Given the description of an element on the screen output the (x, y) to click on. 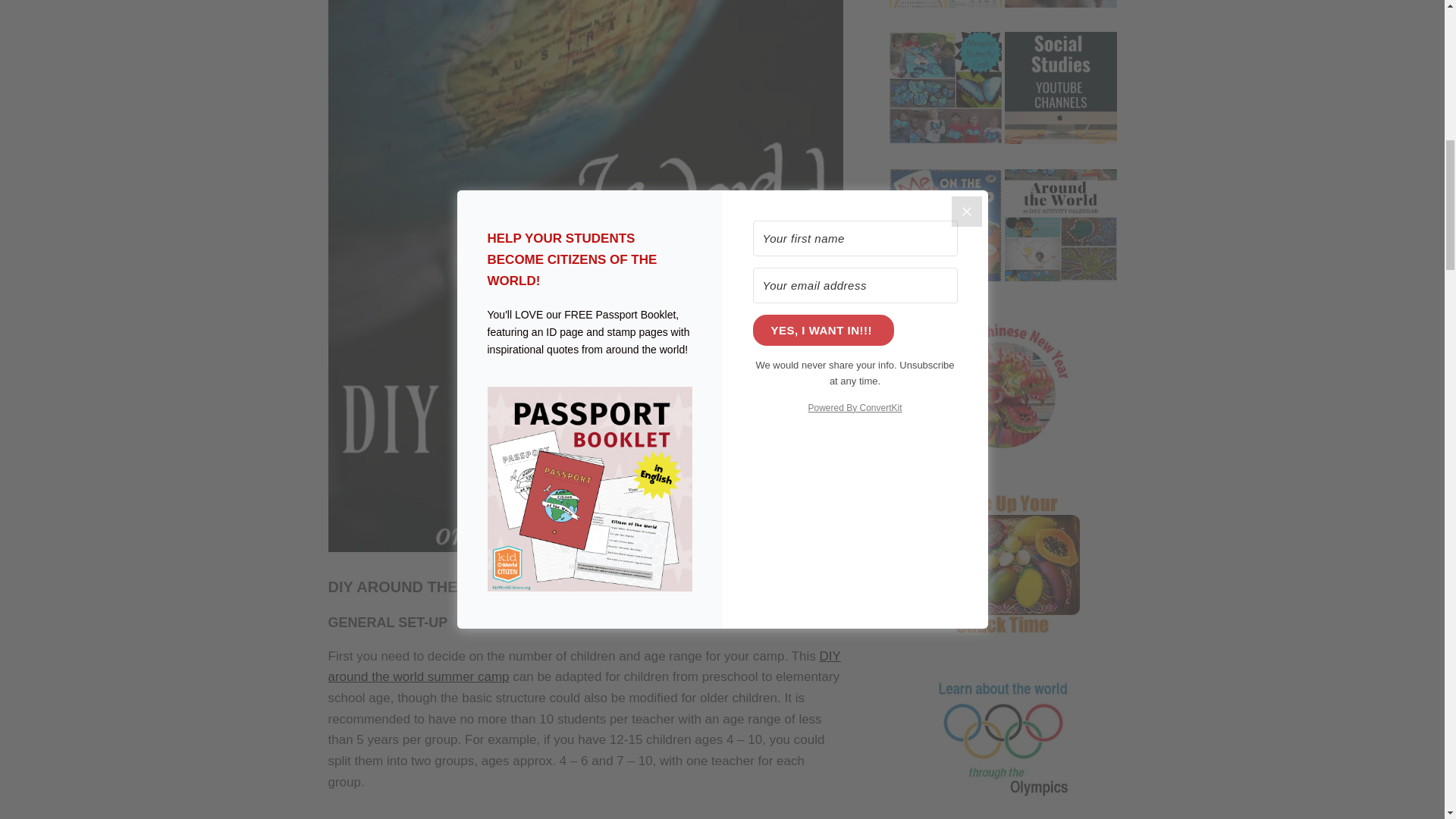
Olympics Activities for Kids (944, 14)
DIY around the world summer camp (583, 666)
